Given the description of an element on the screen output the (x, y) to click on. 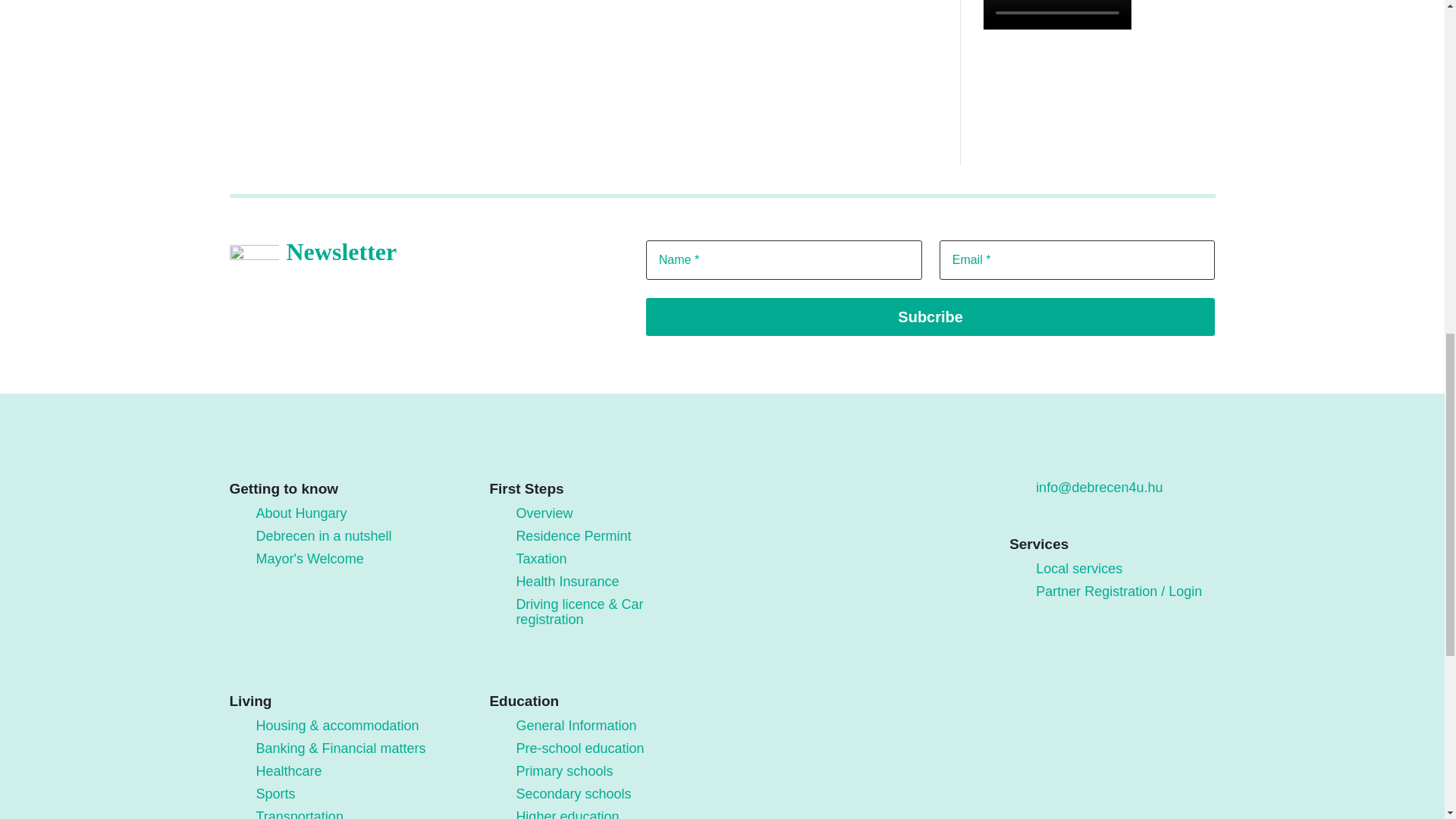
Follow on Instagram (809, 499)
Follow on Facebook (777, 499)
Living (424, 343)
Education (424, 397)
First Steps (424, 289)
Follow on LinkedIn (872, 499)
News (424, 559)
Follow on Youtube (840, 499)
